Given the description of an element on the screen output the (x, y) to click on. 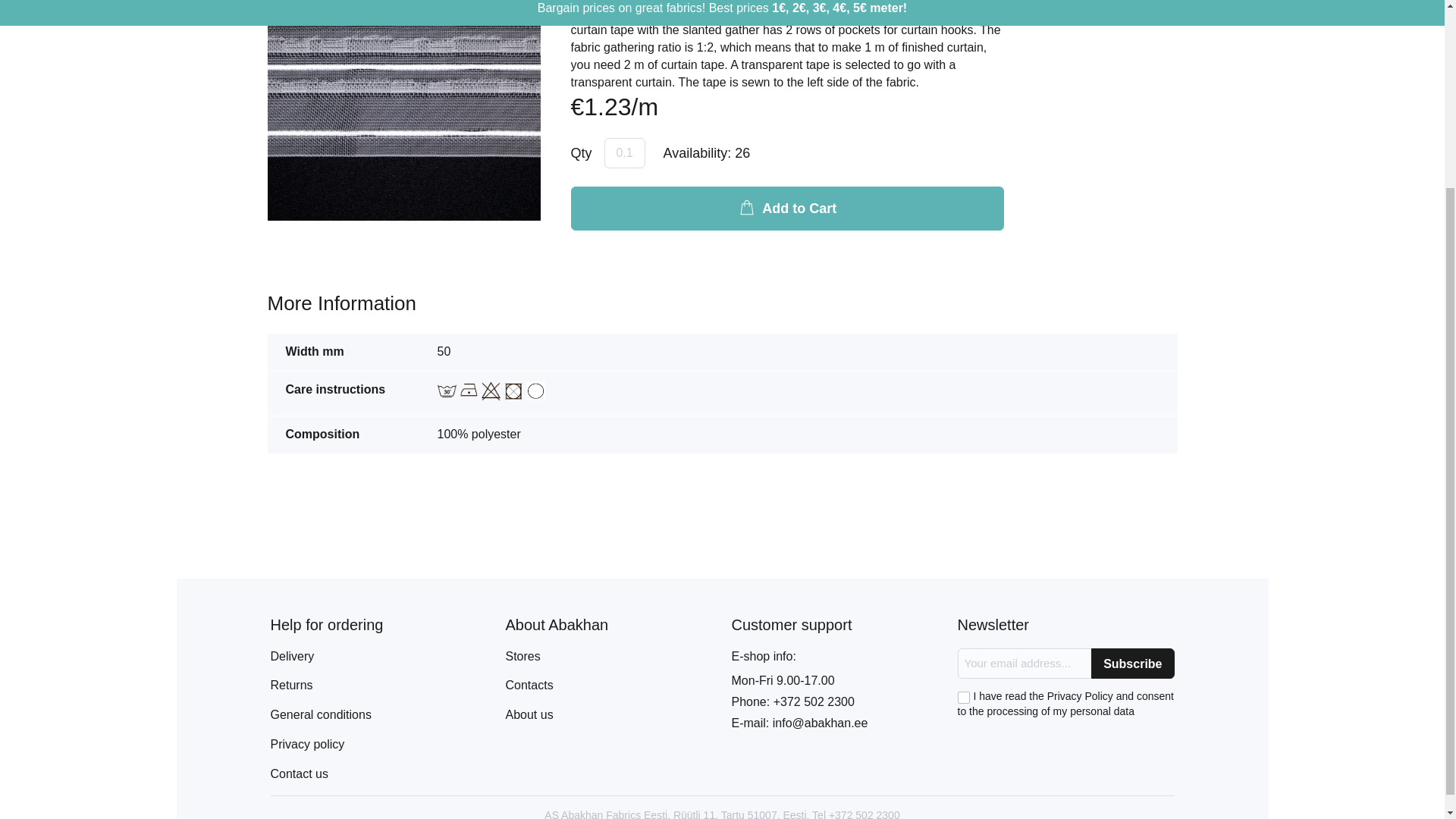
Privacy Policy (306, 744)
Returns (291, 684)
No bleaching (490, 390)
Contact us (298, 773)
Shipping (291, 656)
Add to Cart (786, 208)
General conditions (320, 714)
Availability (707, 153)
Special dry cleaning (534, 390)
Qty (624, 153)
